Given the description of an element on the screen output the (x, y) to click on. 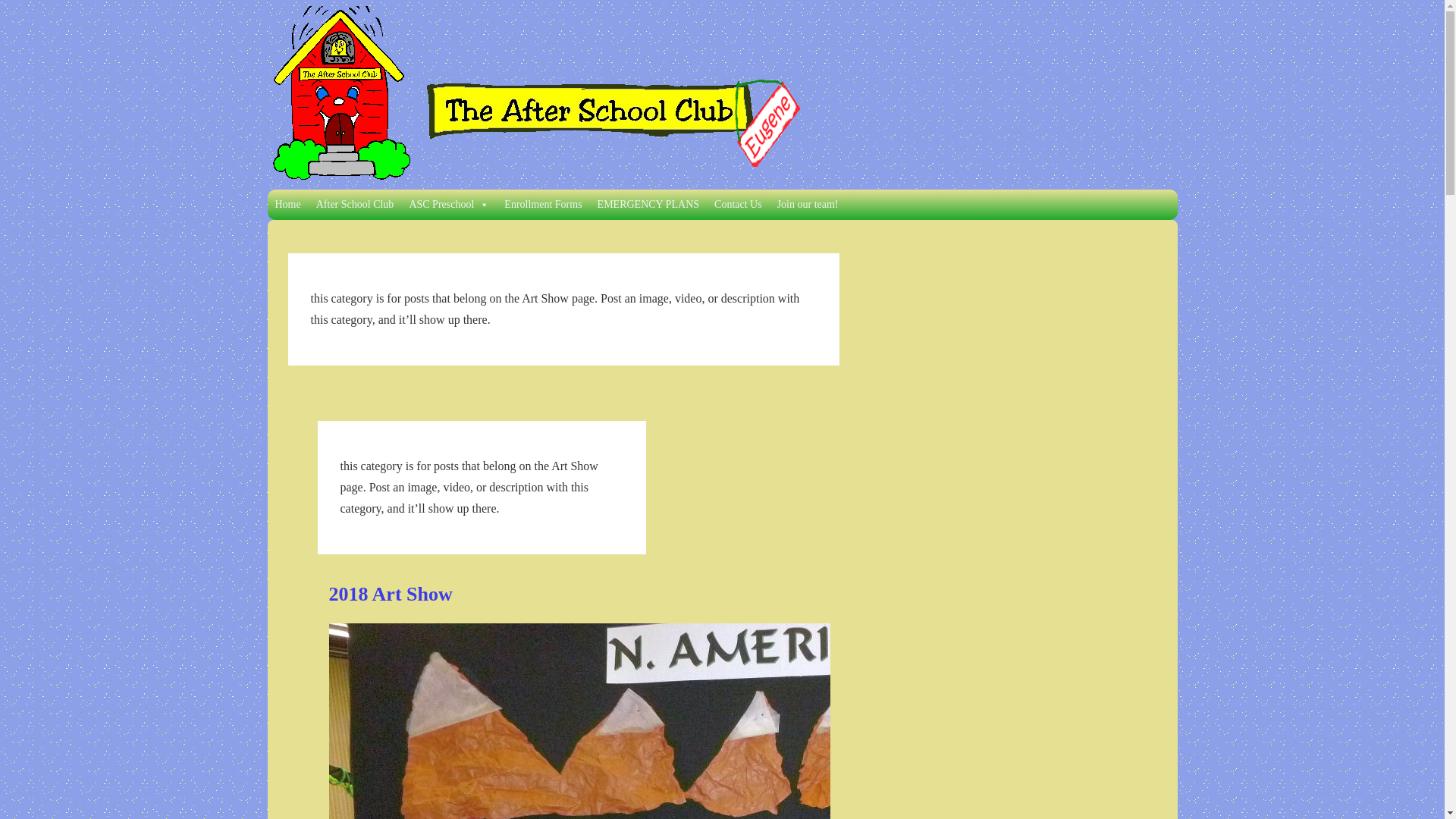
Contact Us (738, 204)
Enrollment Forms (542, 204)
Home (286, 204)
EMERGENCY PLANS (647, 204)
ASC Preschool (448, 204)
2018 Art Show (390, 594)
After School Club (354, 204)
Join our team! (807, 204)
